Given the description of an element on the screen output the (x, y) to click on. 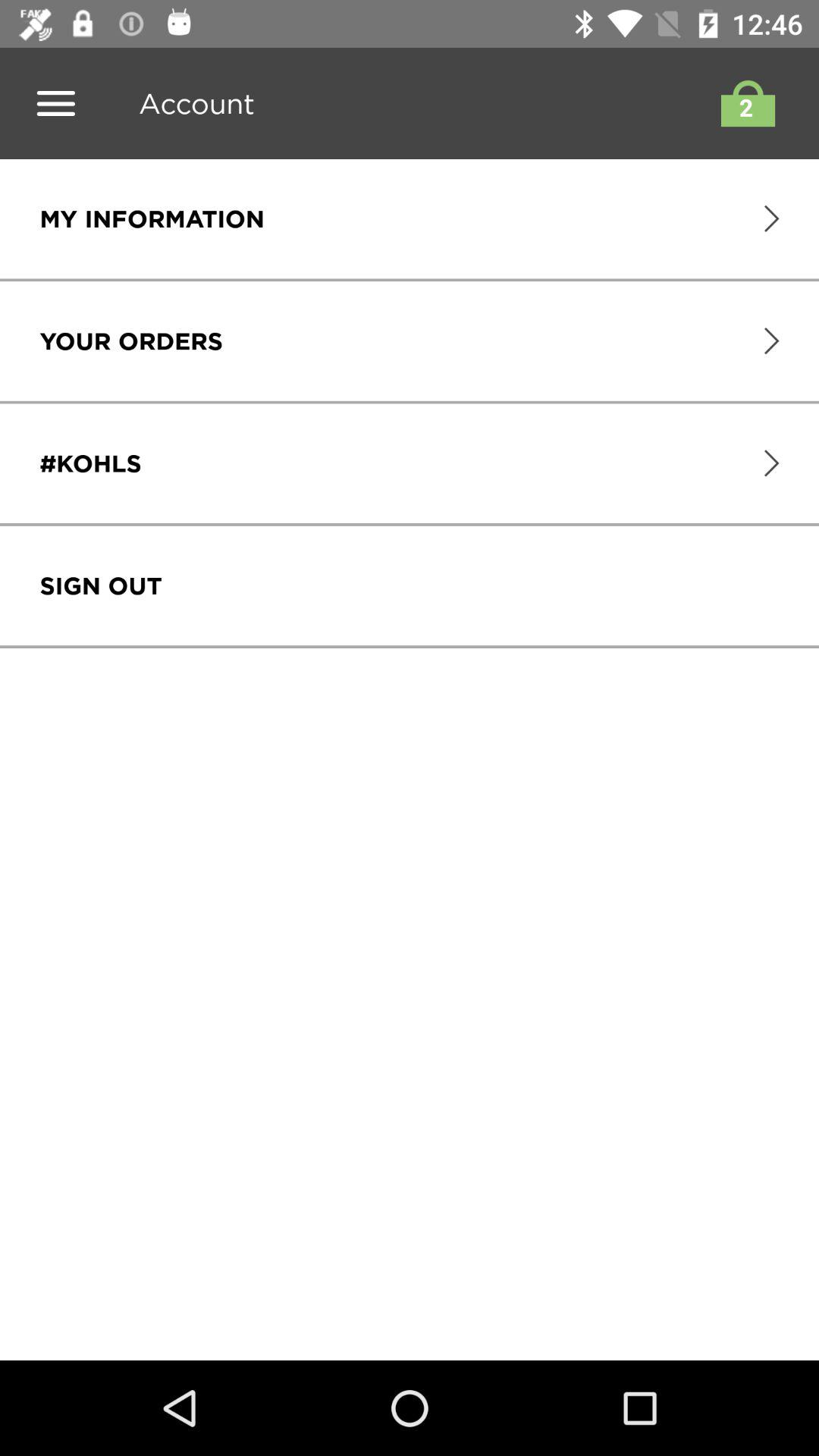
list the menu (55, 103)
